Given the description of an element on the screen output the (x, y) to click on. 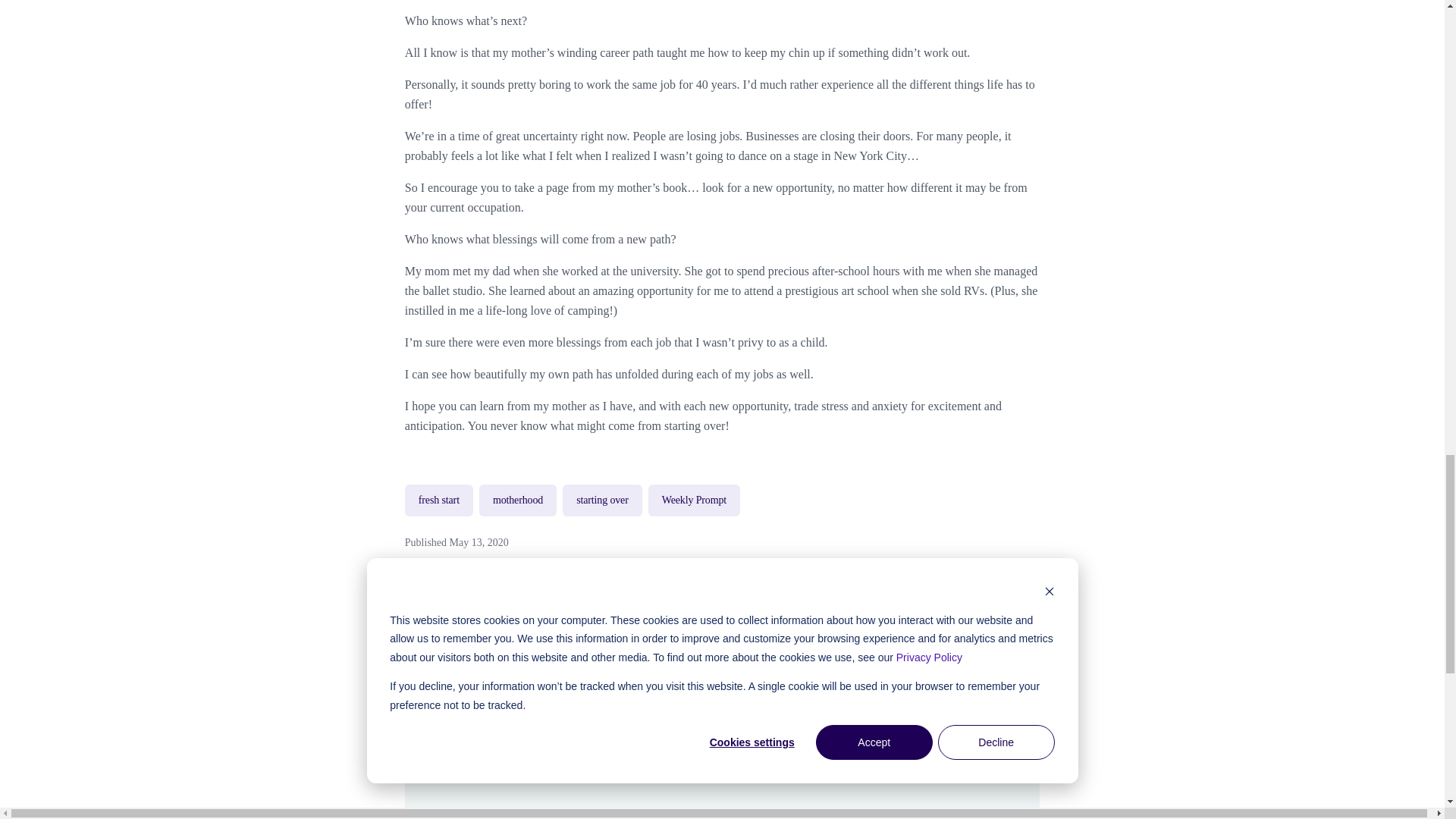
Chrissie Kenaston (559, 759)
